Given the description of an element on the screen output the (x, y) to click on. 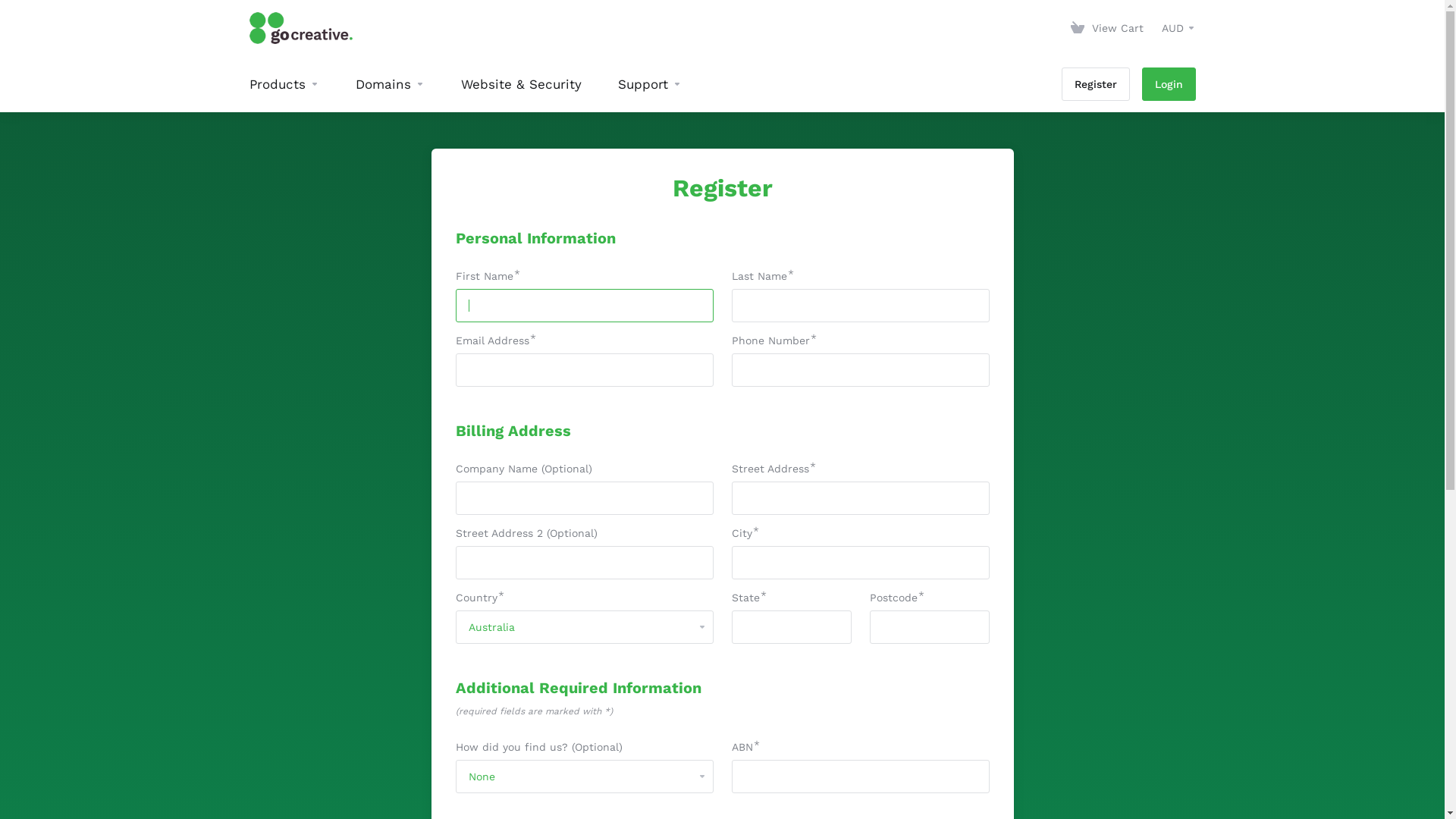
Products Element type: text (283, 84)
Register Element type: text (1095, 83)
GO Creative Element type: hover (300, 27)
Website & Security Element type: text (520, 84)
AUD Element type: text (1178, 27)
Login Element type: text (1168, 83)
Domains Element type: text (389, 84)
View Cart Element type: text (1106, 27)
Support Element type: text (649, 84)
